Given the description of an element on the screen output the (x, y) to click on. 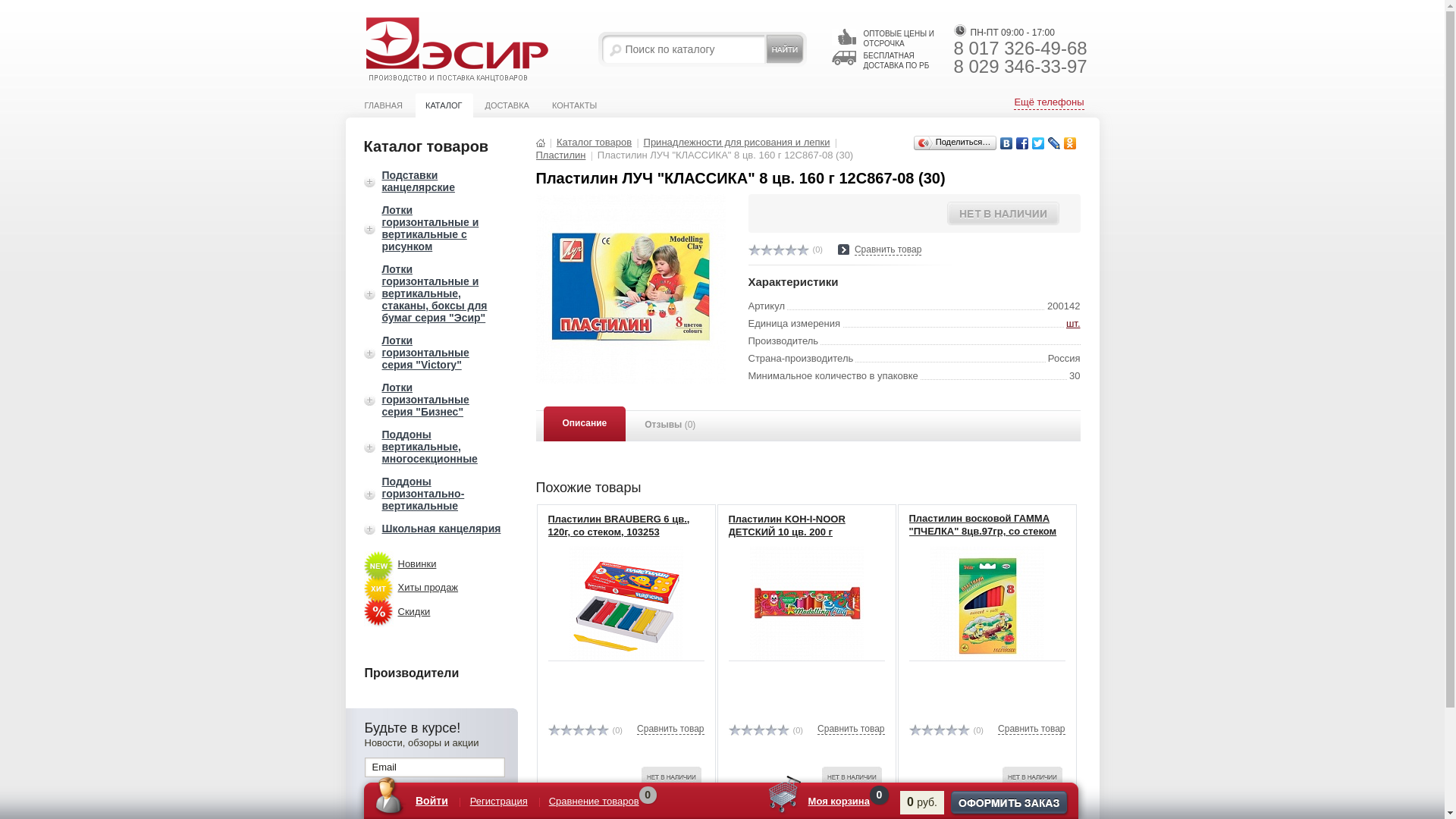
5 Element type: hover (602, 729)
1 Element type: hover (734, 729)
Facebook Element type: hover (1022, 143)
2 Element type: hover (926, 729)
1 Element type: hover (553, 729)
5 Element type: hover (782, 729)
2 Element type: hover (565, 729)
LiveJournal Element type: hover (1054, 143)
4 Element type: hover (950, 729)
4 Element type: hover (770, 729)
1 Element type: hover (753, 249)
3 Element type: hover (938, 729)
4 Element type: hover (589, 729)
3 Element type: hover (777, 249)
1 Element type: hover (914, 729)
5 Element type: hover (963, 729)
2 Element type: hover (765, 249)
3 Element type: hover (577, 729)
5 Element type: hover (802, 249)
2 Element type: hover (746, 729)
3 Element type: hover (758, 729)
4 Element type: hover (790, 249)
Twitter Element type: hover (1037, 143)
